Given the description of an element on the screen output the (x, y) to click on. 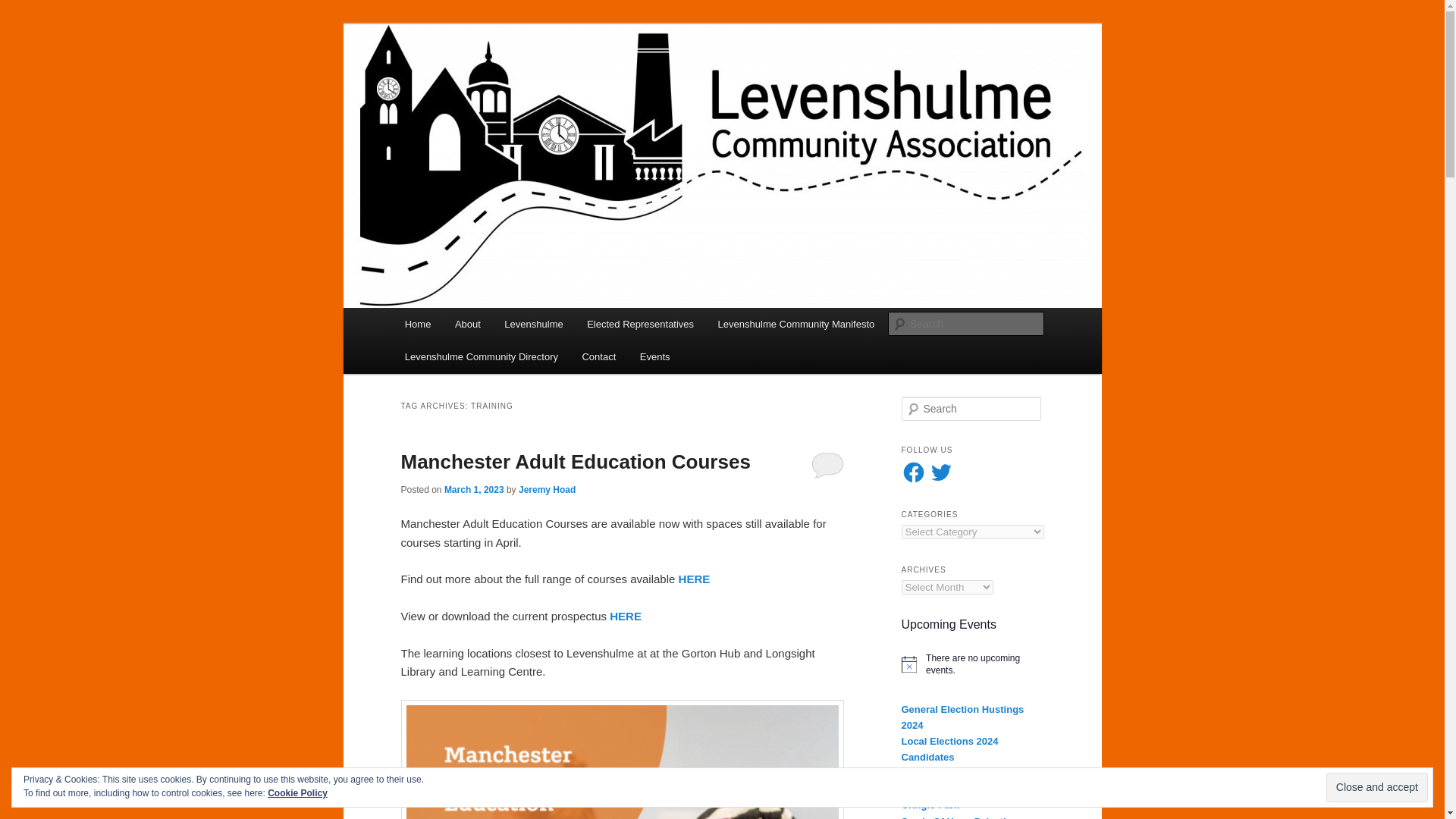
About (467, 323)
Levenshulme Community Association (605, 78)
Levenshulme Community Directory (481, 356)
Levenshulme Community Manifesto (796, 323)
Elected Representatives (639, 323)
Home (417, 323)
Close and accept (1377, 787)
Levenshulme (534, 323)
Search (24, 8)
